Given the description of an element on the screen output the (x, y) to click on. 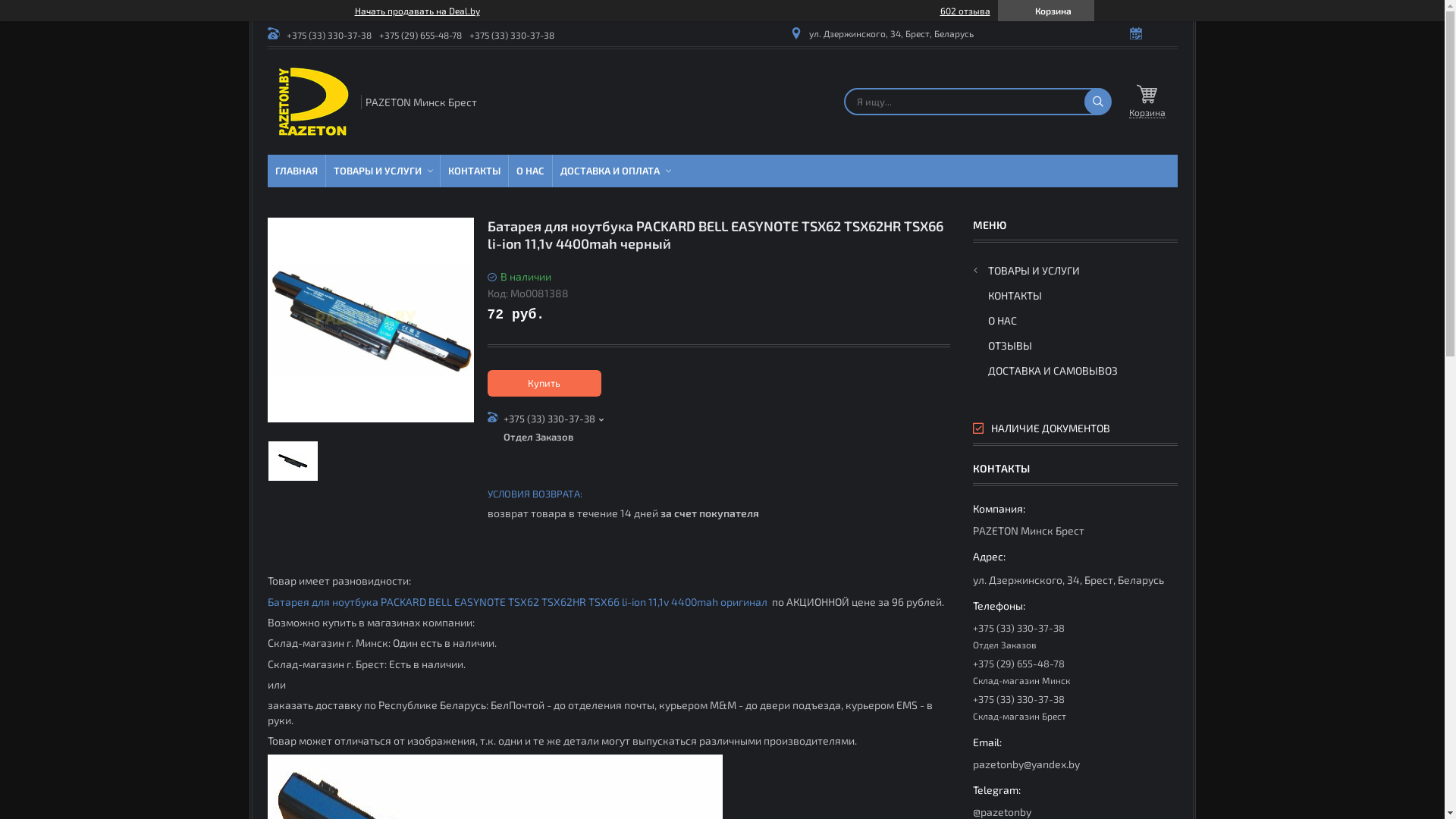
pazetonby@yandex.by Element type: text (1074, 752)
